Given the description of an element on the screen output the (x, y) to click on. 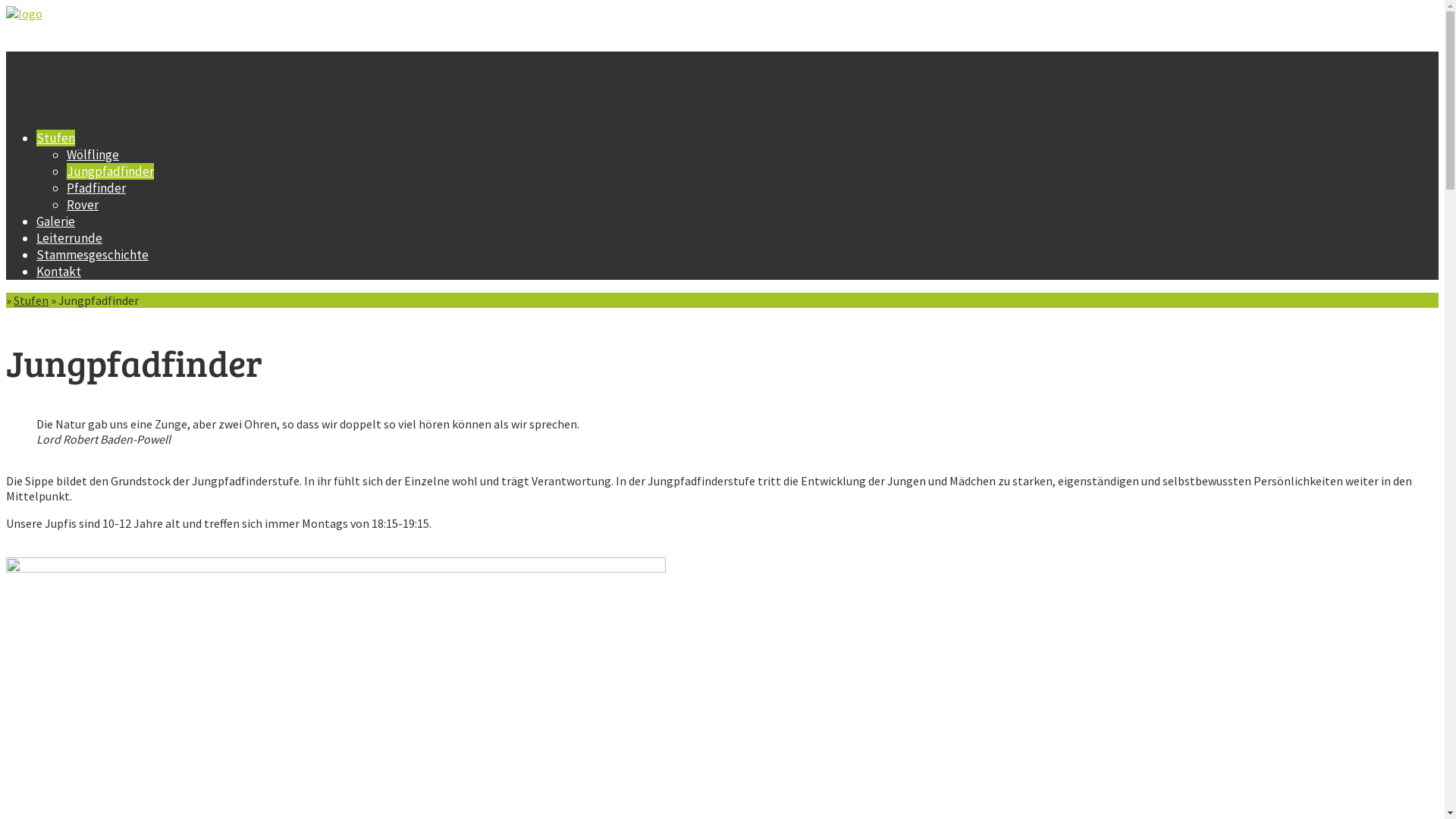
Skip to content Element type: text (5, 128)
Pfadfinder Element type: text (95, 187)
Galerie Element type: text (55, 221)
Stufen Element type: text (55, 137)
Jungpfadfinder Element type: text (109, 171)
Rover Element type: text (82, 204)
Stufen Element type: text (30, 299)
Stammesgeschichte Element type: text (92, 254)
Kontakt Element type: text (58, 271)
Leiterrunde Element type: text (69, 237)
